Given the description of an element on the screen output the (x, y) to click on. 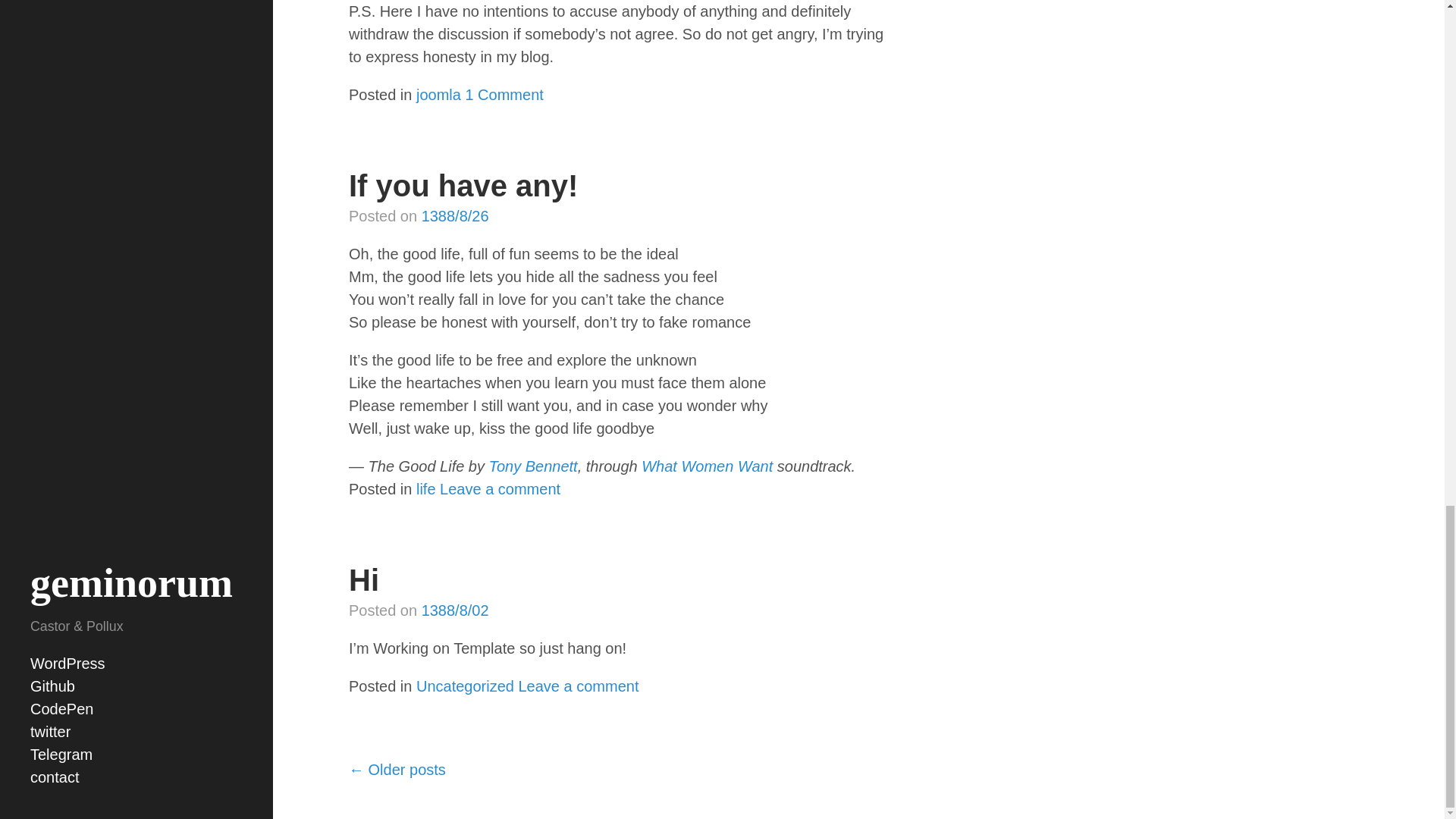
Uncategorized (464, 686)
Hi (363, 580)
Leave a comment (578, 686)
Tony Bennett (533, 466)
Leave a comment (499, 488)
life (425, 488)
joomla (438, 94)
If you have any! (463, 185)
What Women Want (707, 466)
1 Comment (503, 94)
